Given the description of an element on the screen output the (x, y) to click on. 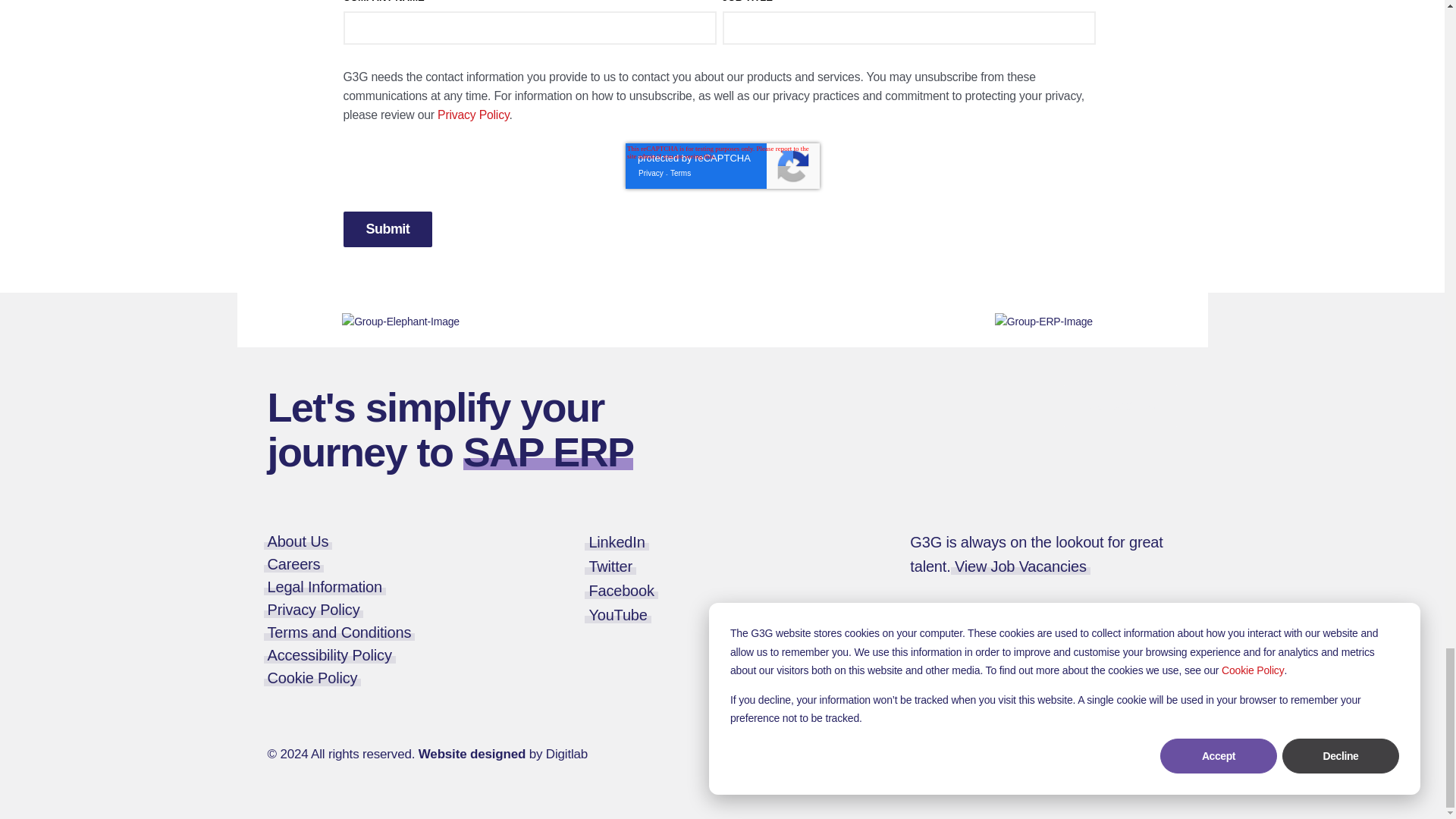
reCAPTCHA (721, 166)
Group-ERP-Image (1043, 321)
Group-Elephant-Image (401, 321)
Submit (387, 229)
